Given the description of an element on the screen output the (x, y) to click on. 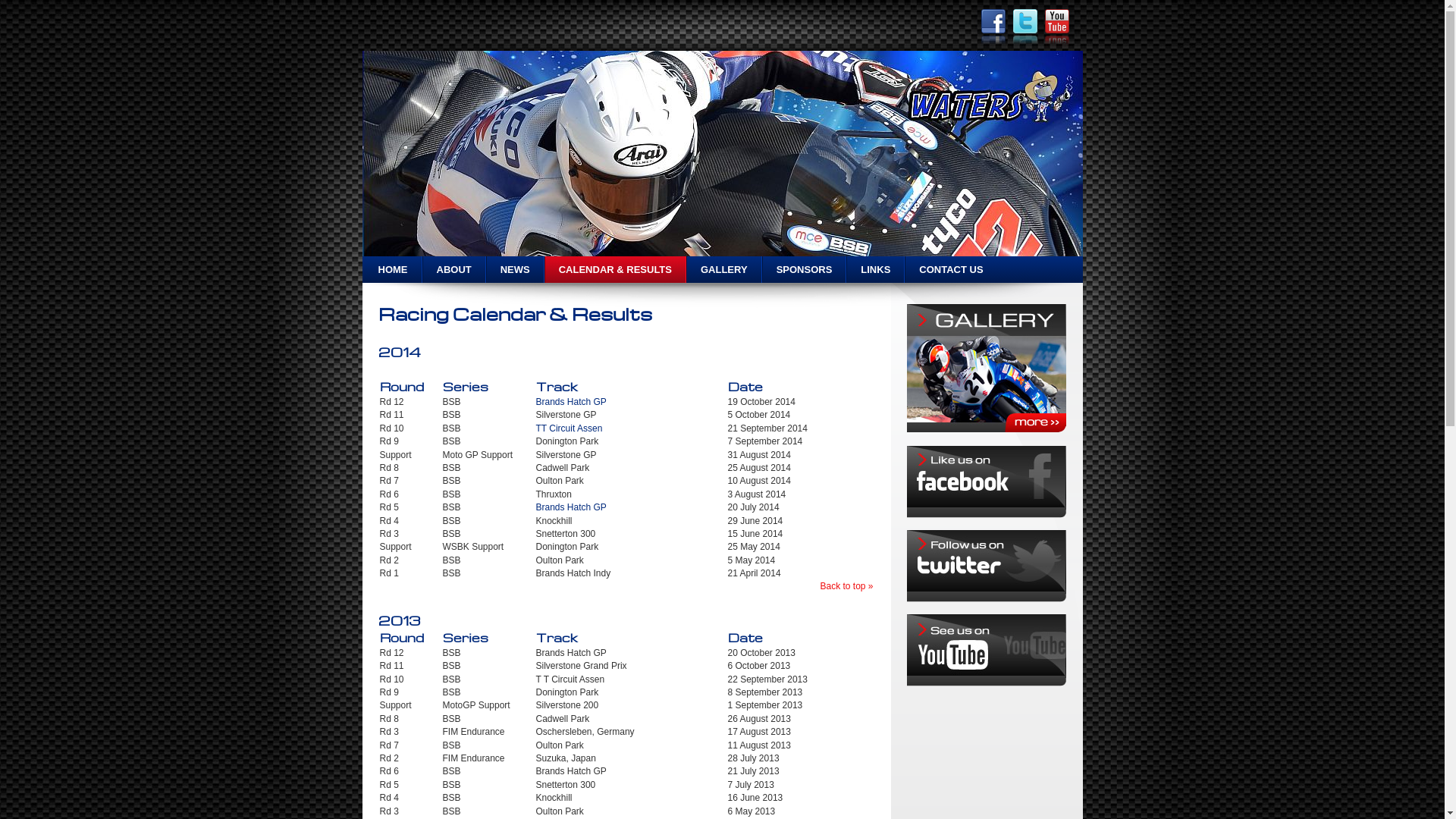
CALENDAR & RESULTS Element type: text (615, 269)
GALLERY Element type: text (724, 269)
Brands Hatch GP Element type: text (570, 401)
CONTACT US Element type: text (950, 269)
HOME Element type: text (392, 269)
LINKS Element type: text (875, 269)
Brands Hatch GP Element type: text (570, 507)
SPONSORS Element type: text (804, 269)
ABOUT Element type: text (453, 269)
TT Circuit Assen Element type: text (568, 428)
NEWS Element type: text (515, 269)
